Given the description of an element on the screen output the (x, y) to click on. 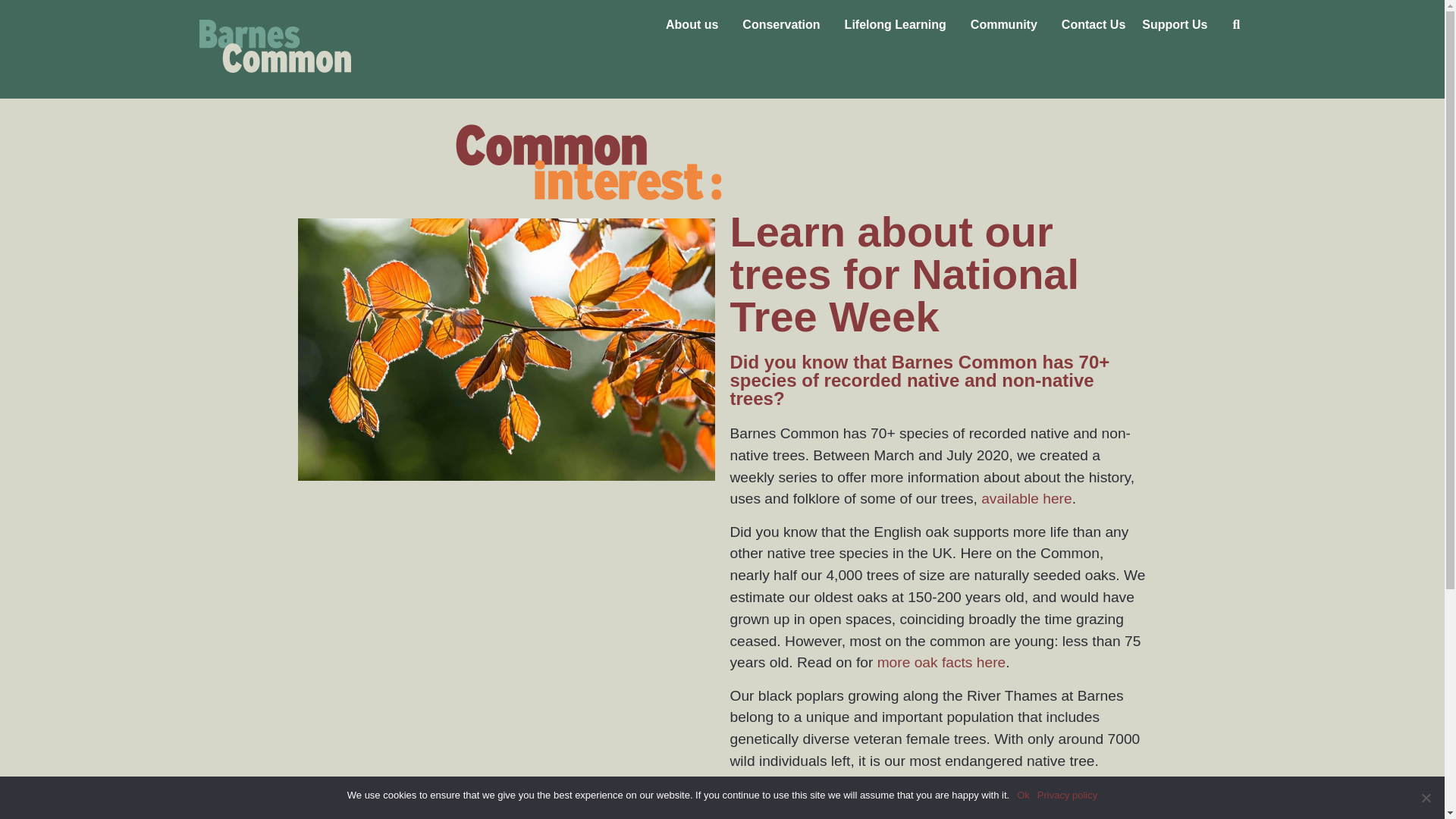
Conservation (784, 24)
Community (1008, 24)
About us (695, 24)
No (1425, 797)
Lifelong Learning (898, 24)
